Given the description of an element on the screen output the (x, y) to click on. 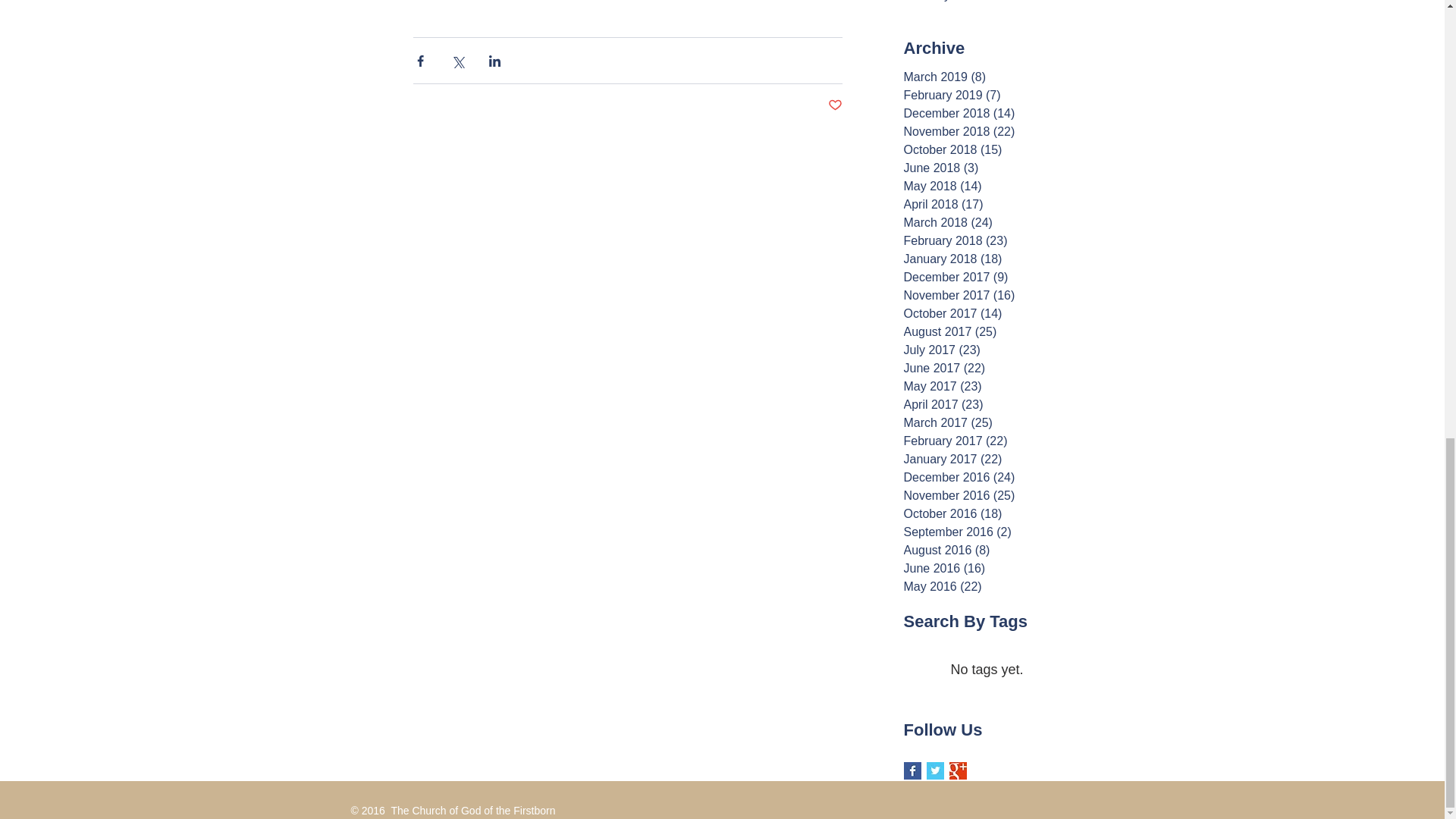
Post not marked as liked (835, 105)
Daily Bread 2-27-19 (992, 4)
